Given the description of an element on the screen output the (x, y) to click on. 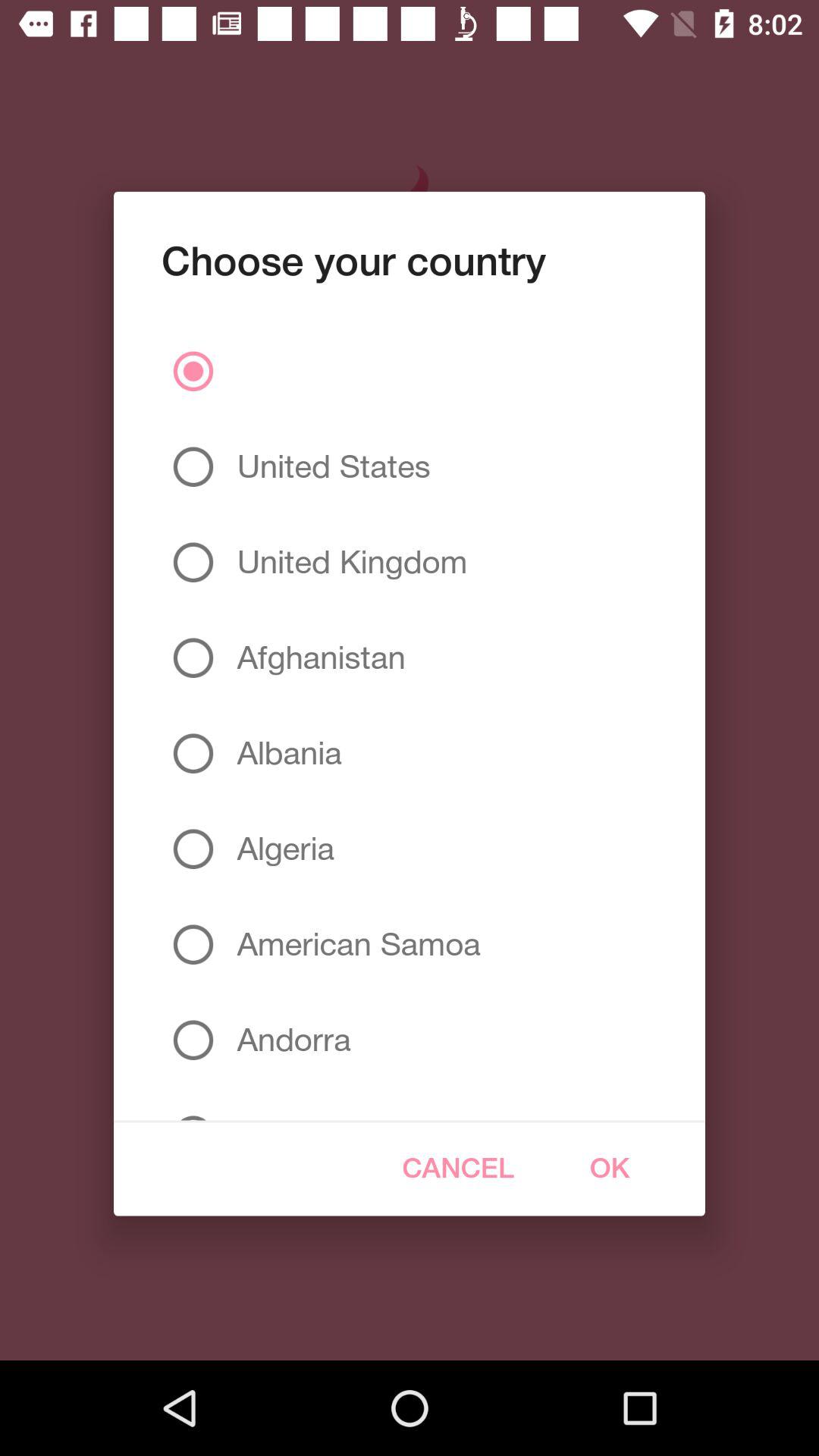
scroll until american samoa (352, 944)
